Given the description of an element on the screen output the (x, y) to click on. 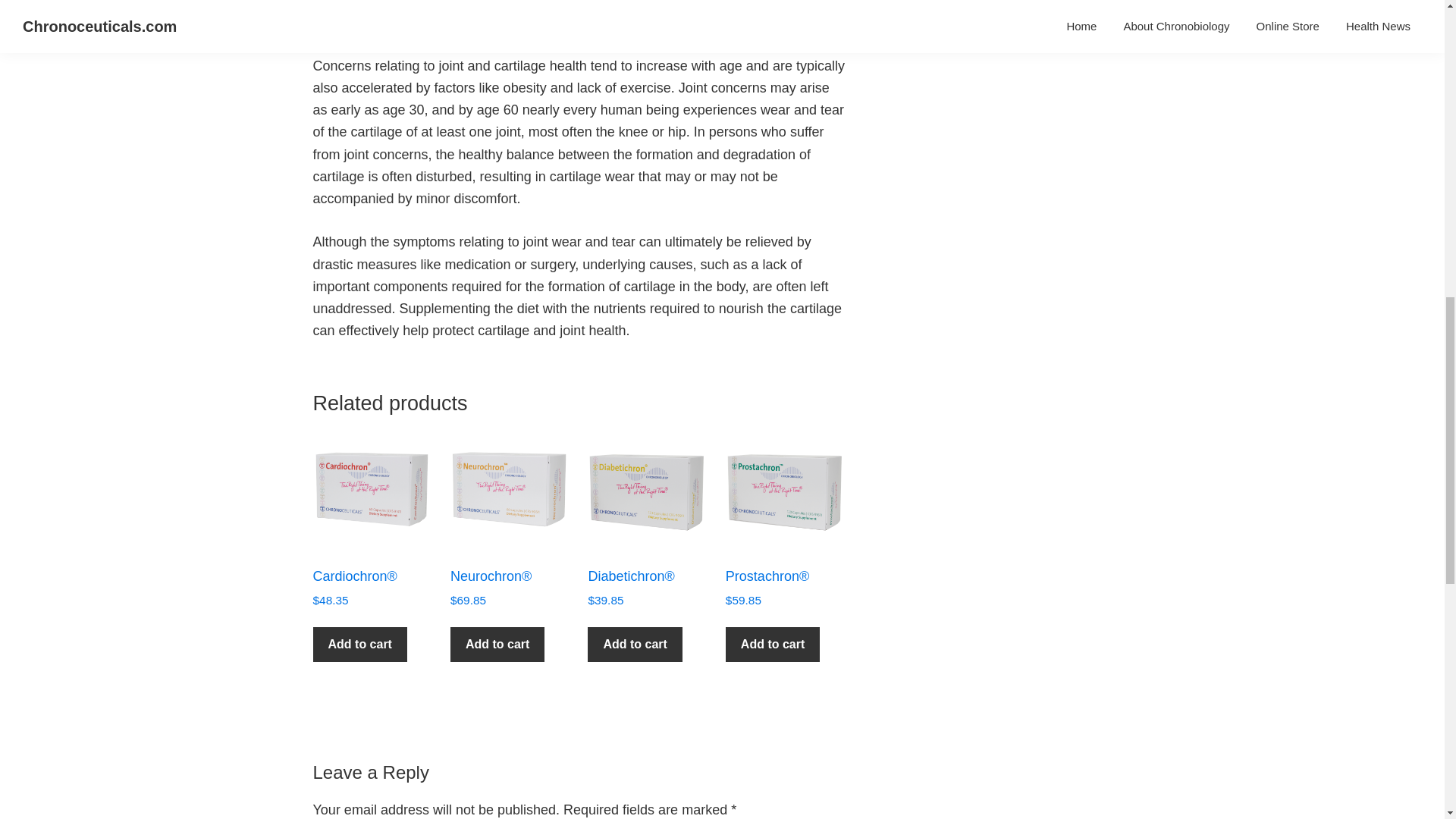
Add to cart (359, 644)
Add to cart (496, 644)
Add to cart (634, 644)
Add to cart (772, 644)
